Given the description of an element on the screen output the (x, y) to click on. 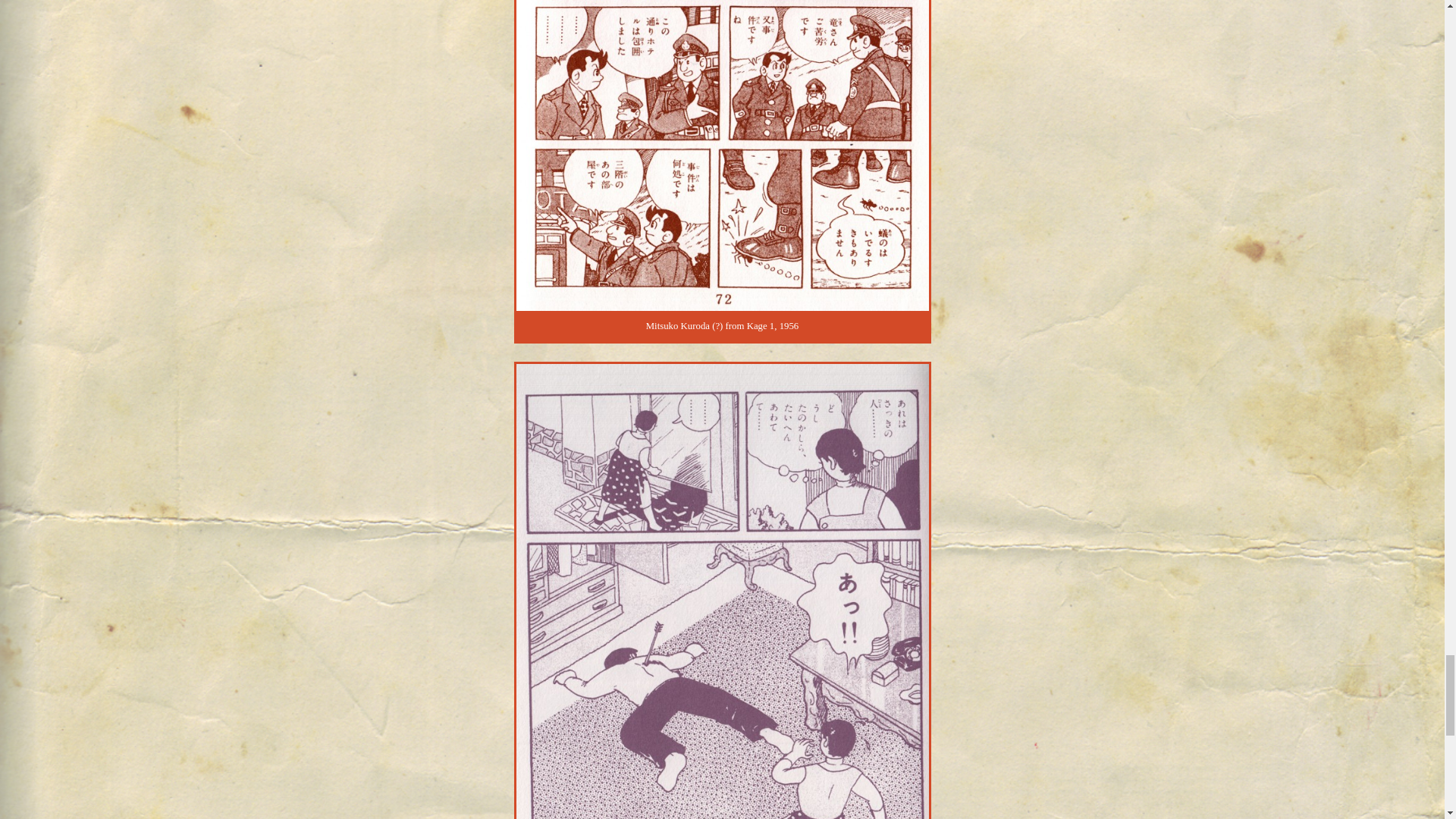
Mitsuko Kuroda maube - Kage 1A (721, 156)
